Given the description of an element on the screen output the (x, y) to click on. 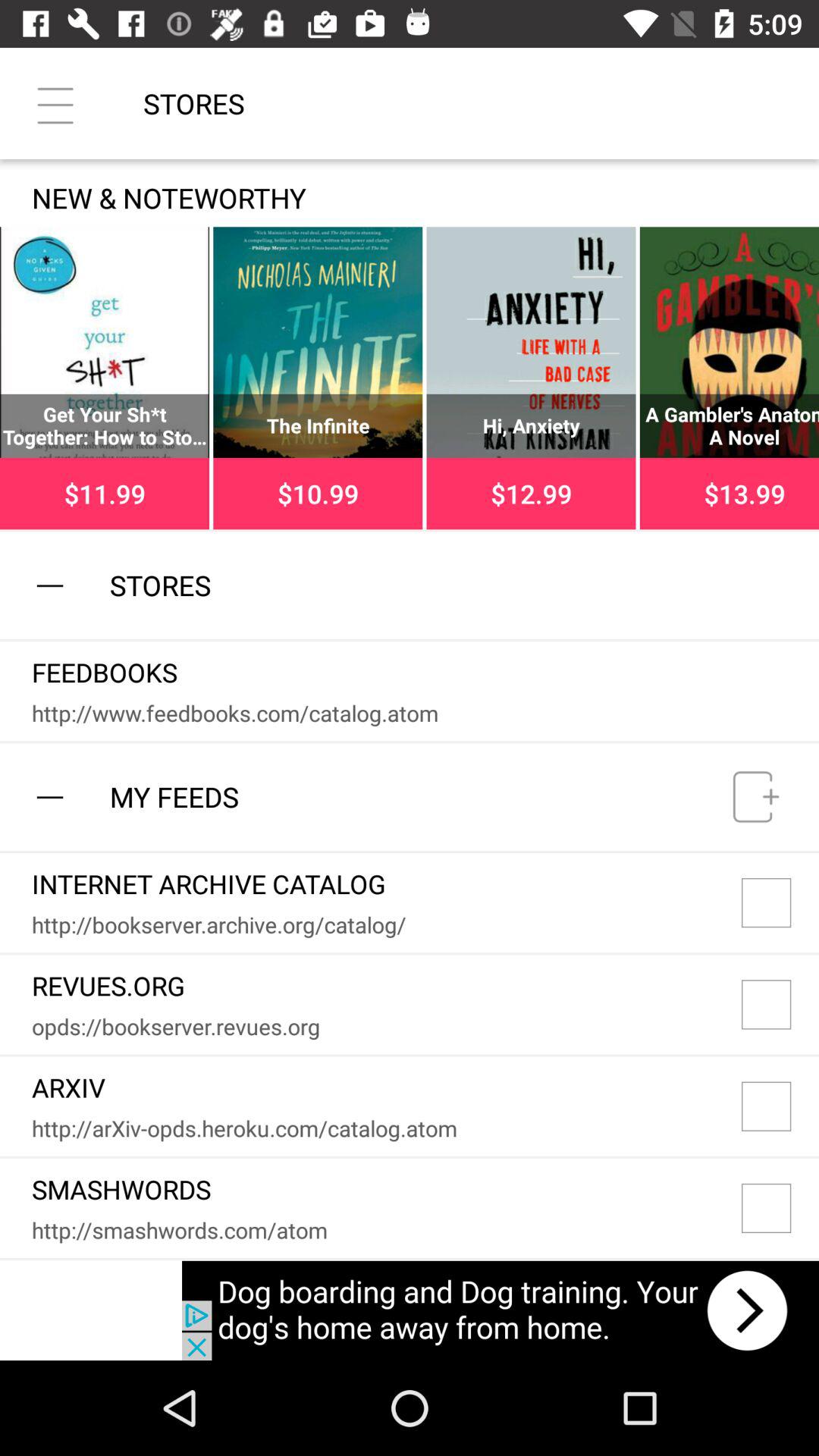
select third thumbnail (531, 378)
select the second box in my feeds (780, 1004)
